Given the description of an element on the screen output the (x, y) to click on. 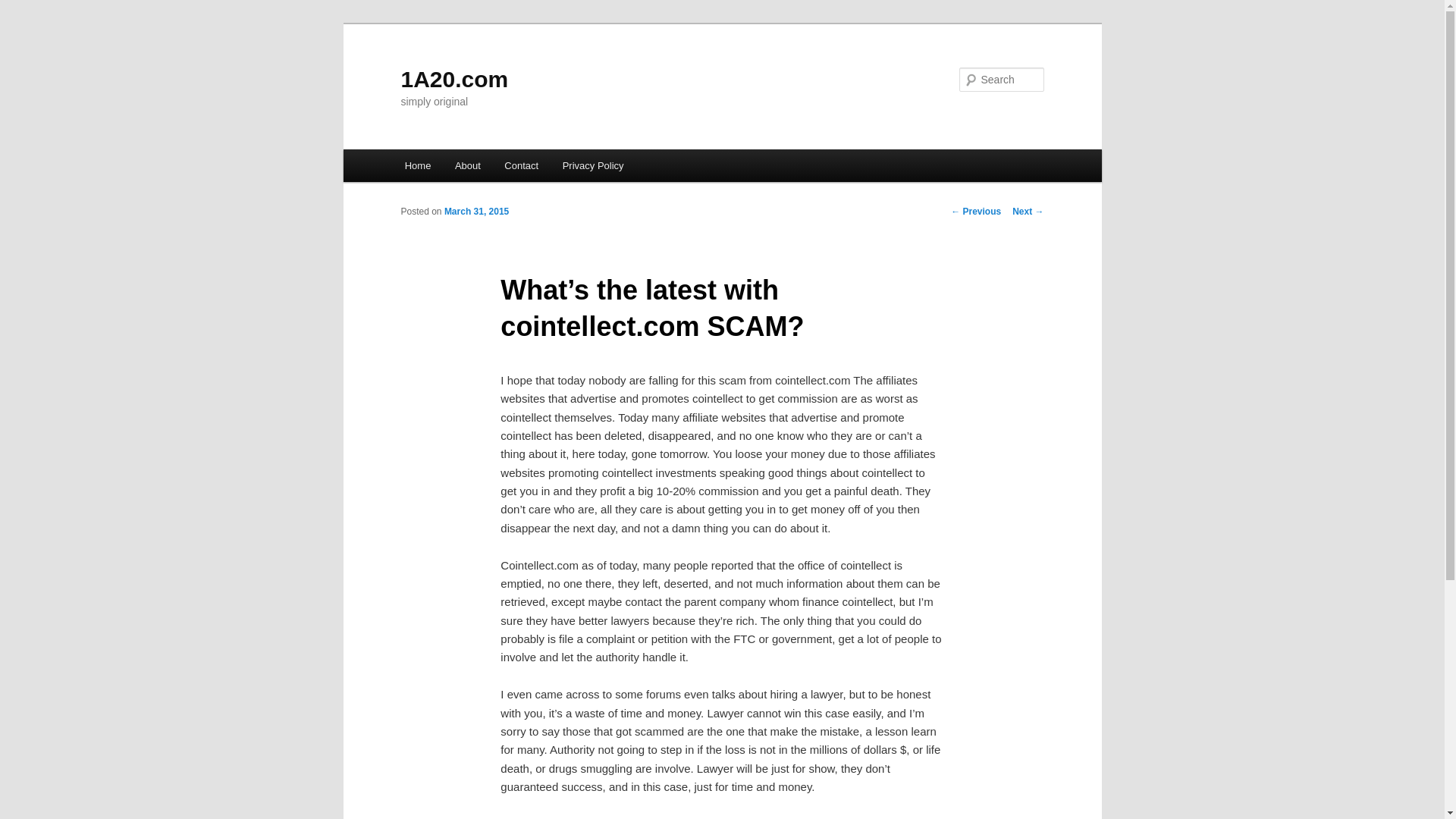
Privacy Policy Element type: text (592, 165)
1A20.com Element type: text (454, 78)
Contact Element type: text (521, 165)
Home Element type: text (417, 165)
Skip to primary content Element type: text (22, 22)
March 31, 2015 Element type: text (476, 211)
Search Element type: text (24, 8)
About Element type: text (467, 165)
